Given the description of an element on the screen output the (x, y) to click on. 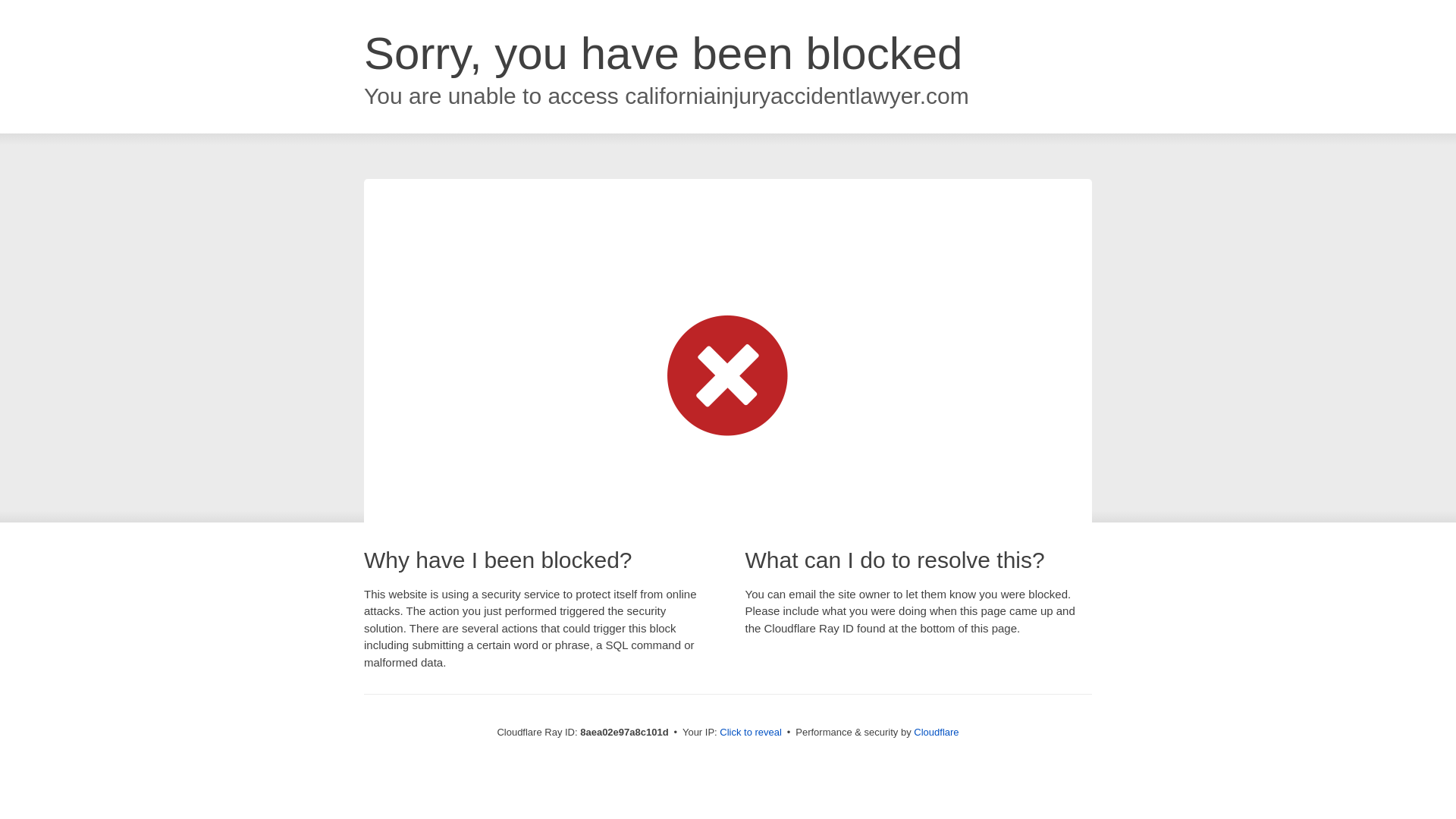
Click to reveal (750, 732)
Cloudflare (936, 731)
